Given the description of an element on the screen output the (x, y) to click on. 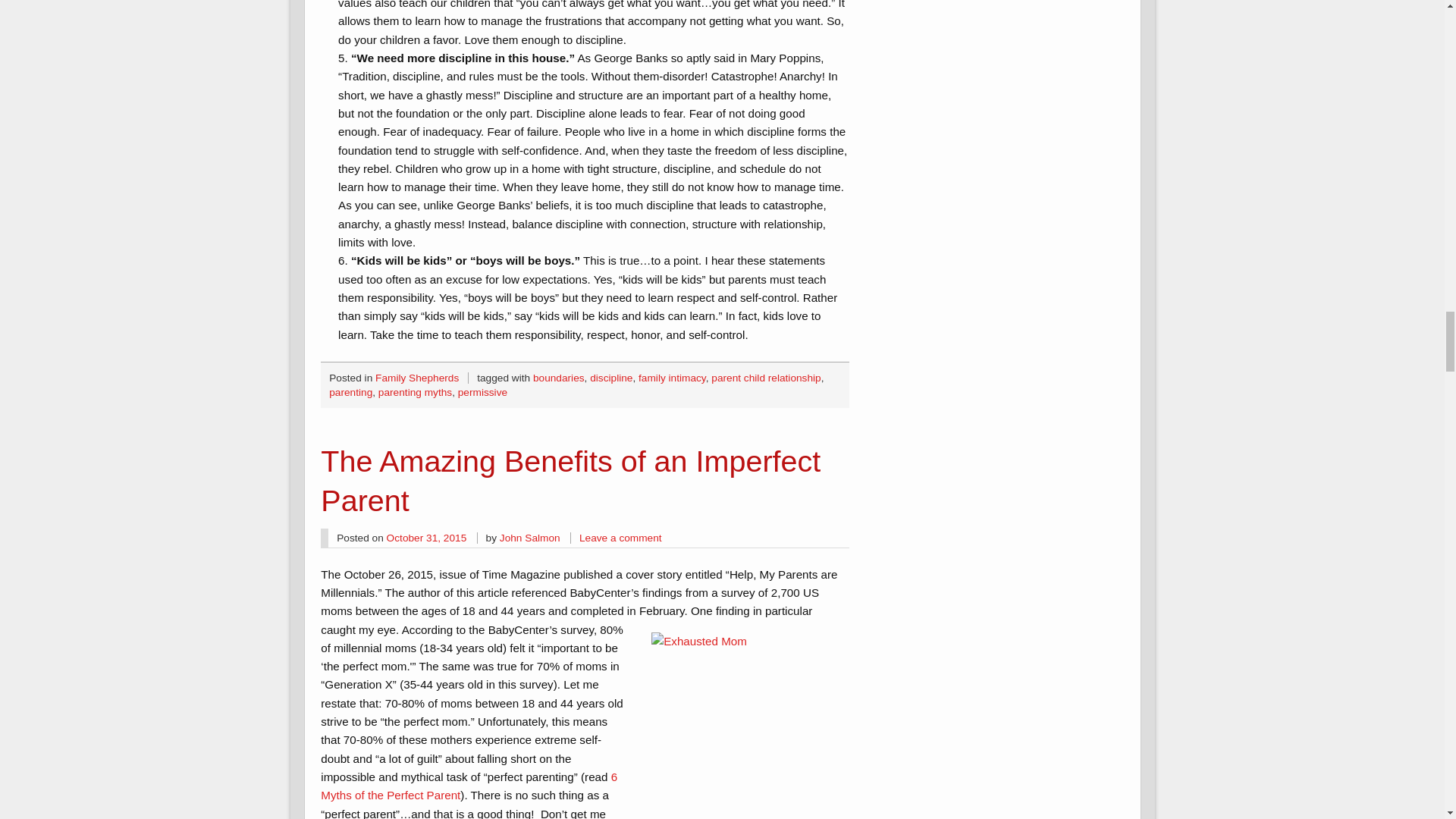
View all posts by John Salmon (529, 537)
6:17 pm (427, 537)
